Given the description of an element on the screen output the (x, y) to click on. 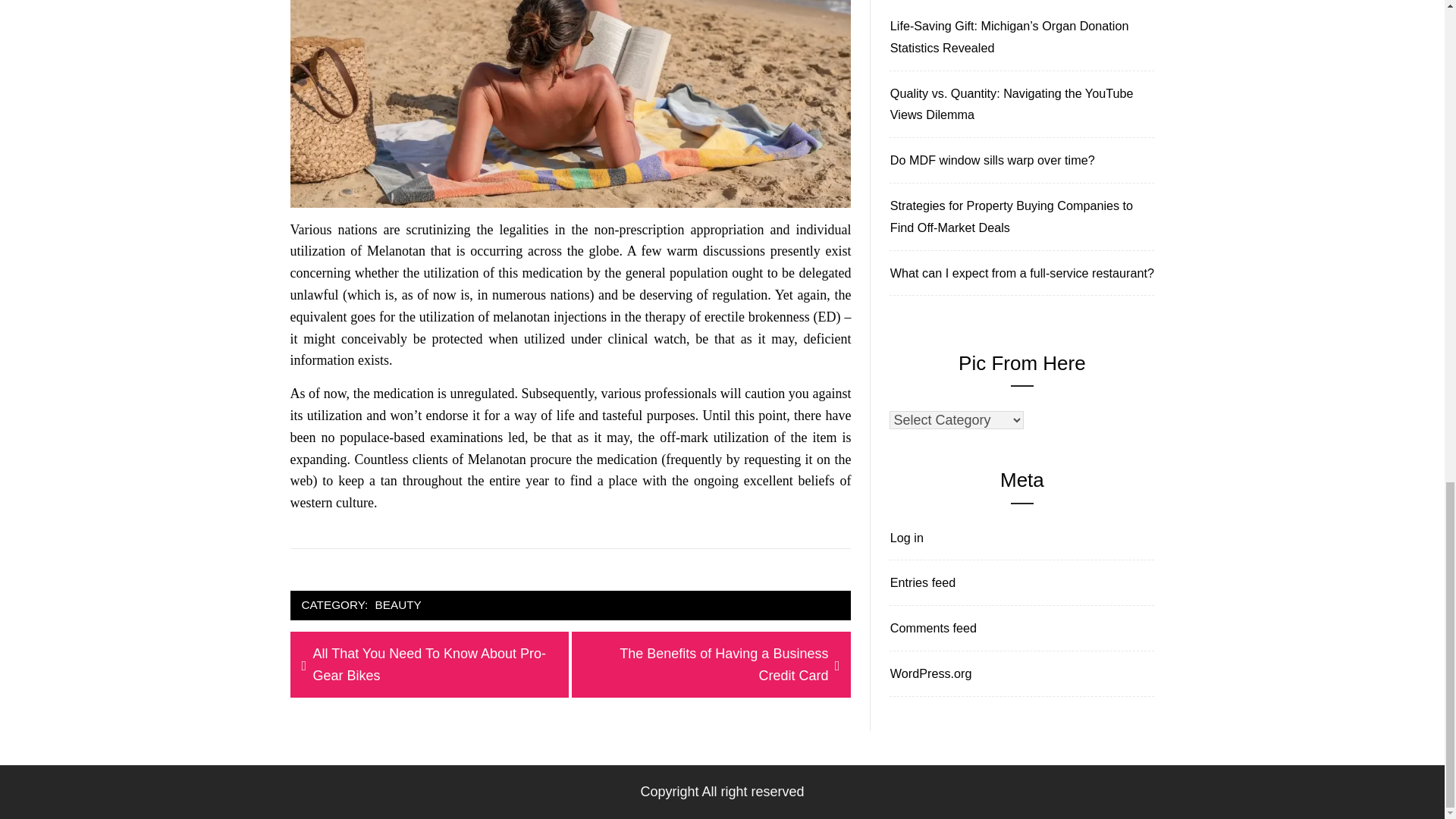
WordPress.org (928, 673)
Comments feed (711, 664)
Entries feed (930, 628)
Quality vs. Quantity: Navigating the YouTube Views Dilemma (920, 582)
Do MDF window sills warp over time? (1019, 104)
Log in (989, 160)
BEAUTY (904, 537)
What can I expect from a full-service restaurant? (398, 605)
